Given the description of an element on the screen output the (x, y) to click on. 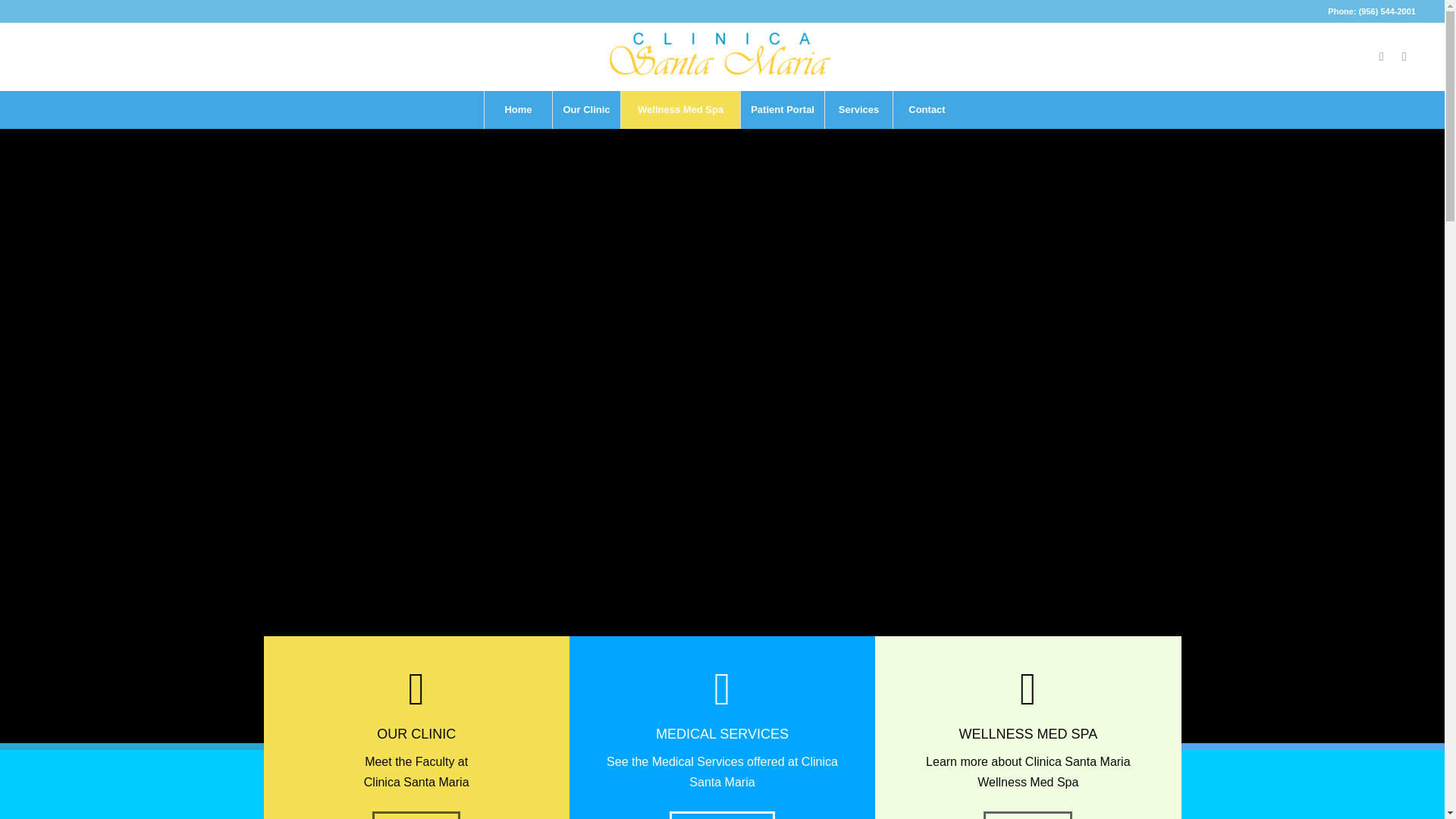
Services (858, 109)
Patient Portal (781, 109)
Facebook (1381, 56)
Service Overview (721, 815)
Wellness Med Spa (679, 109)
Our Clinic (585, 109)
Show Faculty (416, 815)
Home (517, 109)
Wellness Spa (1027, 815)
Mail (1404, 56)
Contact (926, 109)
